Given the description of an element on the screen output the (x, y) to click on. 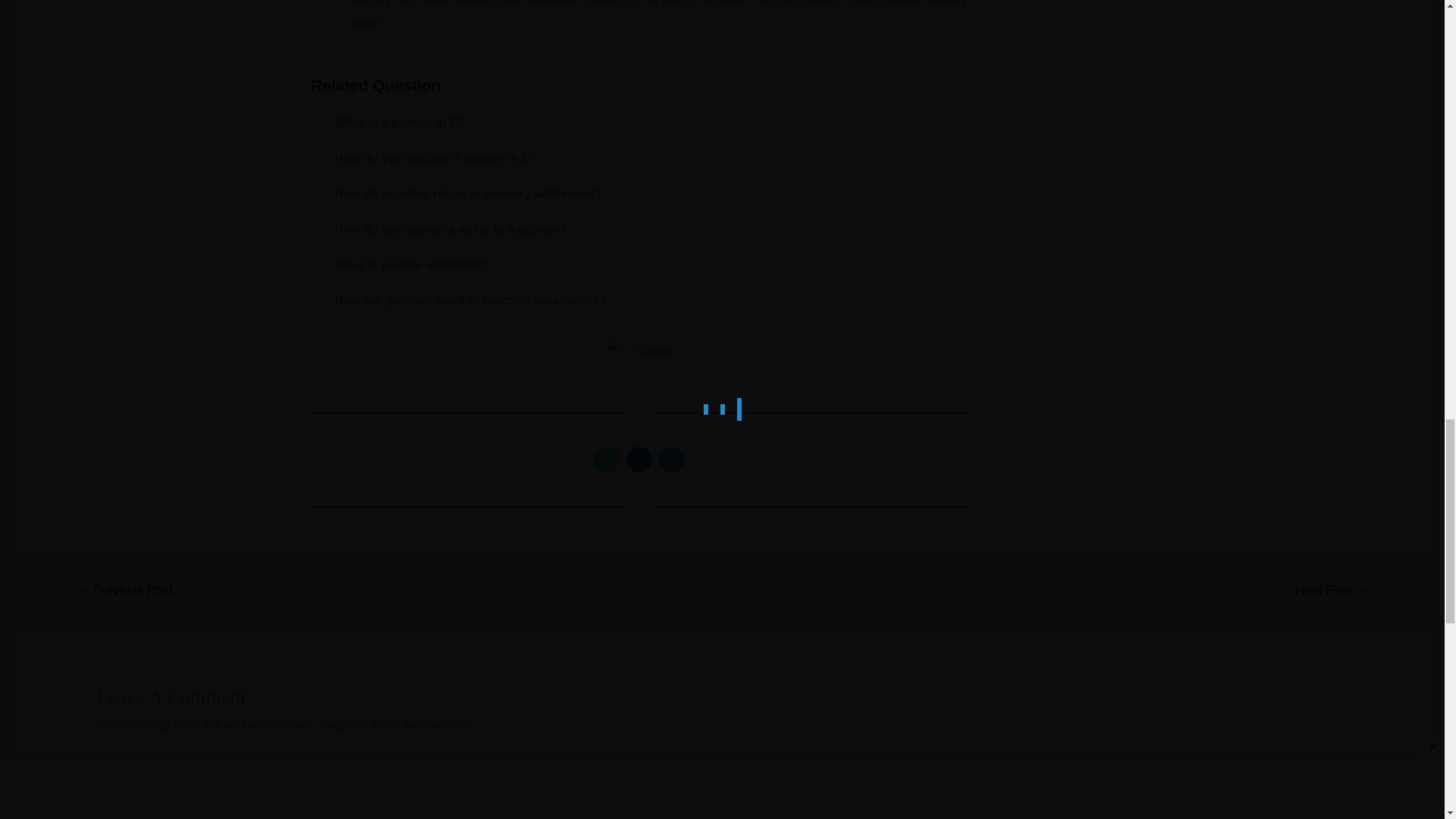
Telegram (671, 459)
How do pointers relate to memory addresses? (468, 193)
How do you assign a value to a pointer? (450, 228)
Linkedin (639, 459)
How are pointers used in function parameters? (470, 300)
What is a pointer in C? (399, 122)
C Programming (639, 350)
Whatsapp (607, 459)
How do you declare a pointer in C? (436, 157)
What is pointer arithmetic? (413, 264)
